Given the description of an element on the screen output the (x, y) to click on. 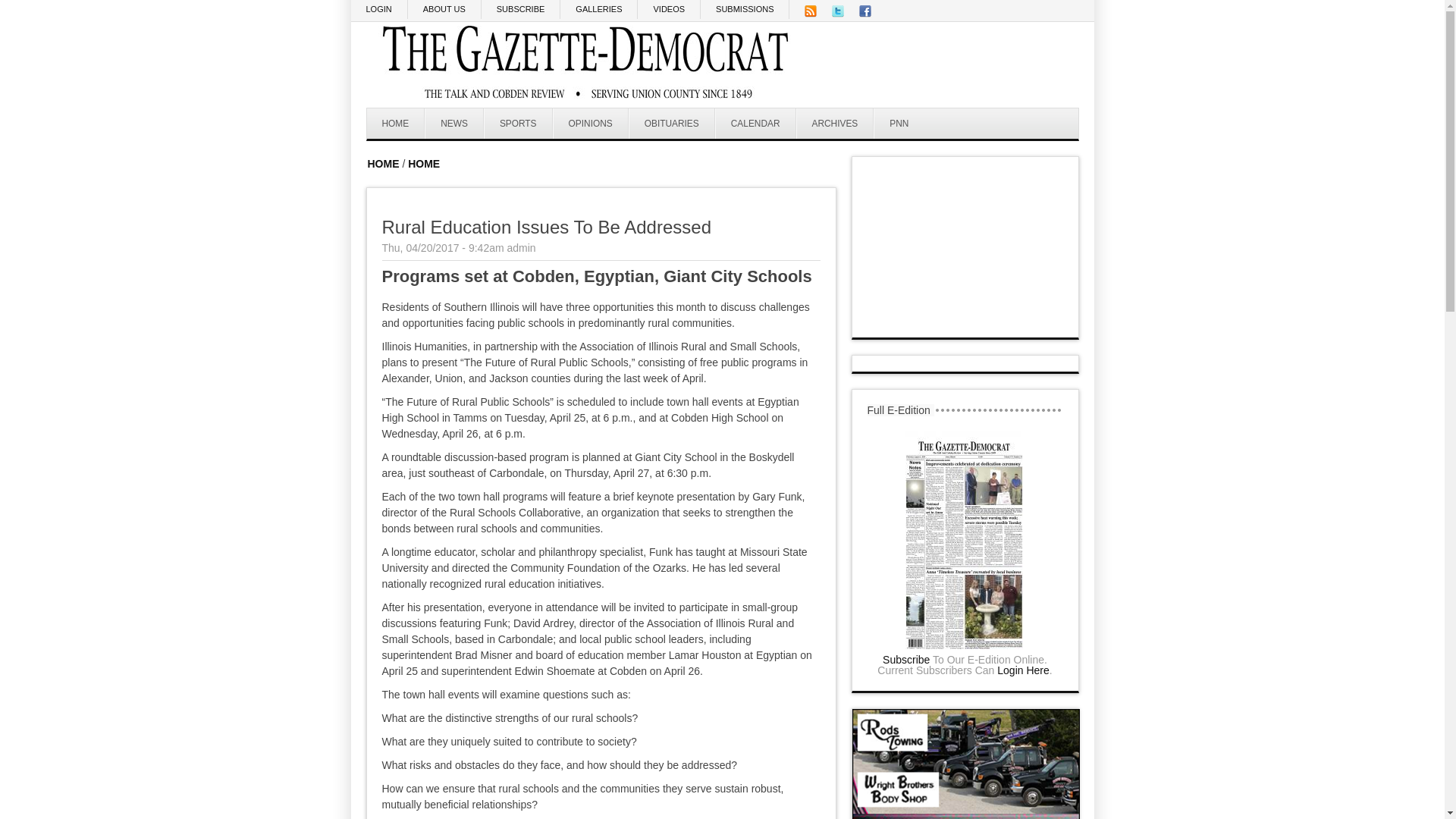
Obituaries (671, 123)
Sports (518, 123)
HOME (423, 163)
SPORTS (518, 123)
News (454, 123)
OBITUARIES (671, 123)
Subscribe (906, 659)
Login Here (1023, 670)
SUBSCRIBE (520, 9)
OPINIONS (590, 123)
SUBMISSIONS (744, 9)
anna weather forecast (965, 322)
CALENDAR (755, 123)
ARCHIVES (835, 123)
PNN (898, 123)
